Given the description of an element on the screen output the (x, y) to click on. 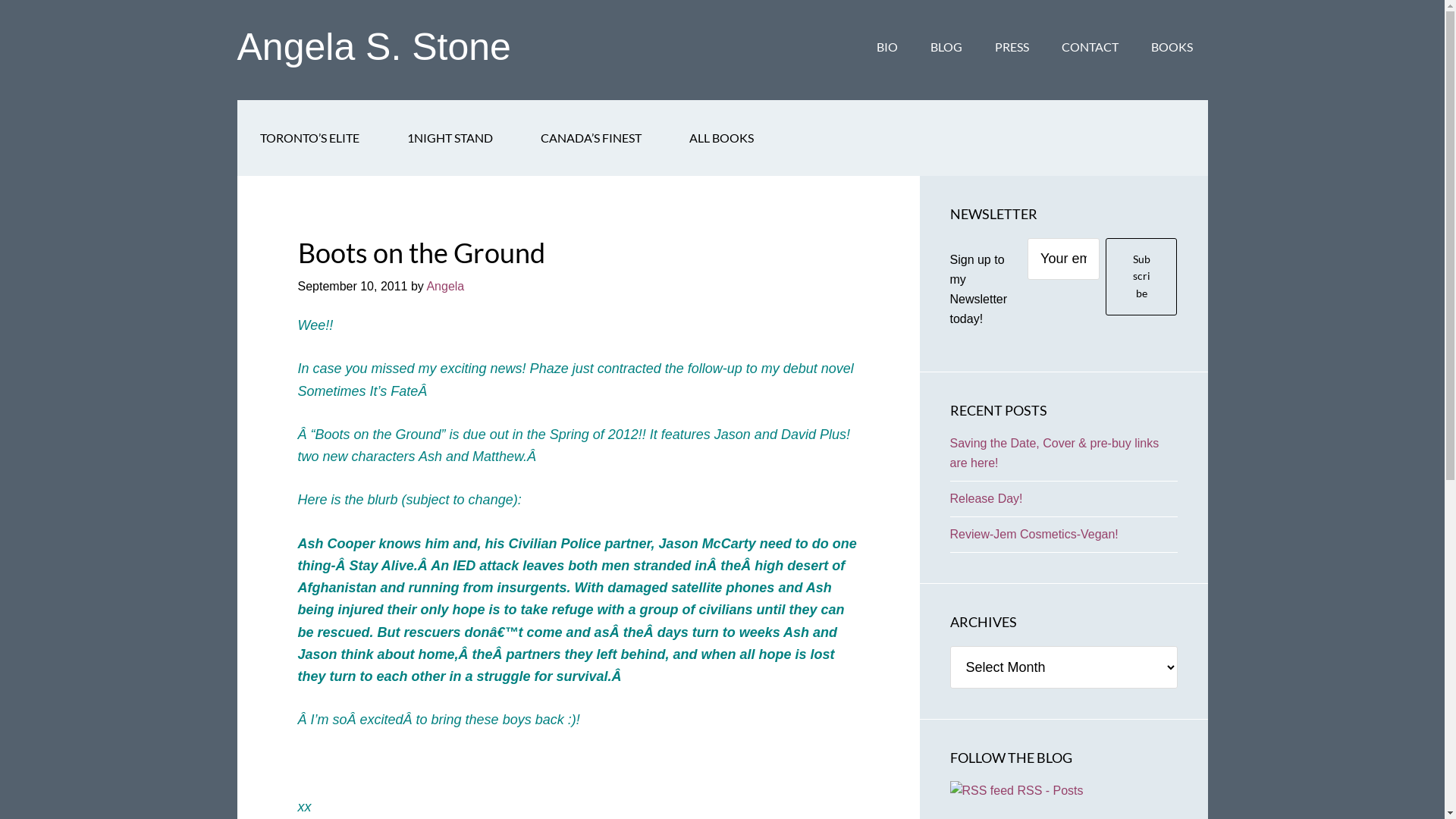
 RSS - Posts Element type: text (1015, 790)
BOOKS Element type: text (1171, 47)
Saving the Date, Cover & pre-buy links are here! Element type: text (1053, 452)
Review-Jem Cosmetics-Vegan! Element type: text (1033, 533)
Release Day! Element type: text (985, 498)
CONTACT Element type: text (1089, 47)
BIO Element type: text (887, 47)
Angela S. Stone Element type: text (373, 46)
Subscribe Element type: text (1141, 276)
ALL BOOKS Element type: text (720, 137)
Angela Element type: text (445, 285)
BLOG Element type: text (945, 47)
1NIGHT STAND Element type: text (448, 137)
PRESS Element type: text (1011, 47)
